Given the description of an element on the screen output the (x, y) to click on. 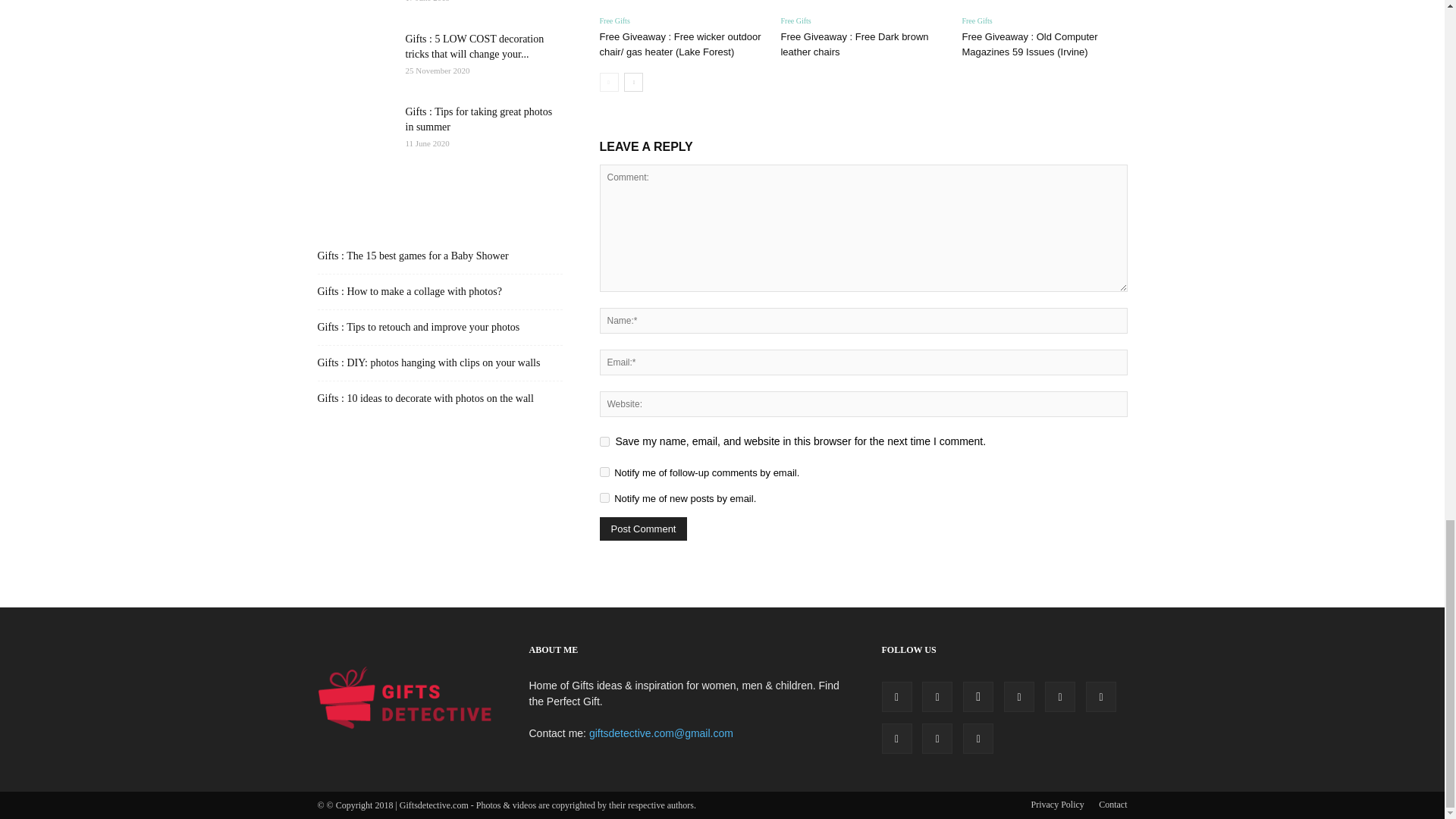
subscribe (603, 497)
subscribe (603, 471)
yes (603, 441)
Post Comment (642, 528)
